Given the description of an element on the screen output the (x, y) to click on. 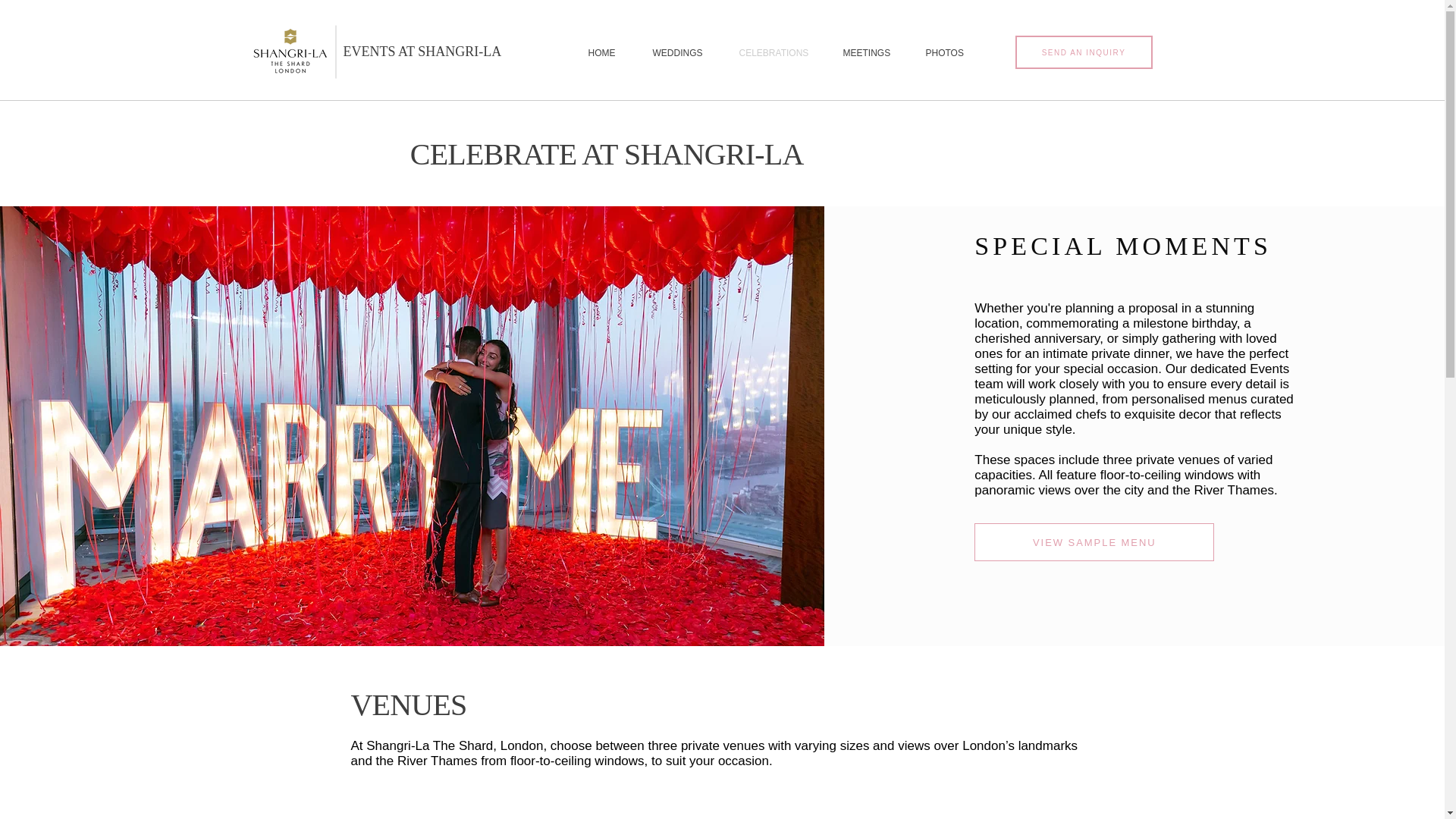
EVENTS AT SHANGRI-LA (421, 51)
CELEBRATIONS (772, 53)
PHOTOS (944, 53)
Embedded Content (721, 803)
WEDDINGS (676, 53)
HOME (601, 53)
MEETINGS (864, 53)
VIEW SAMPLE MENU (1094, 542)
SEND AN INQUIRY (1082, 52)
